Given the description of an element on the screen output the (x, y) to click on. 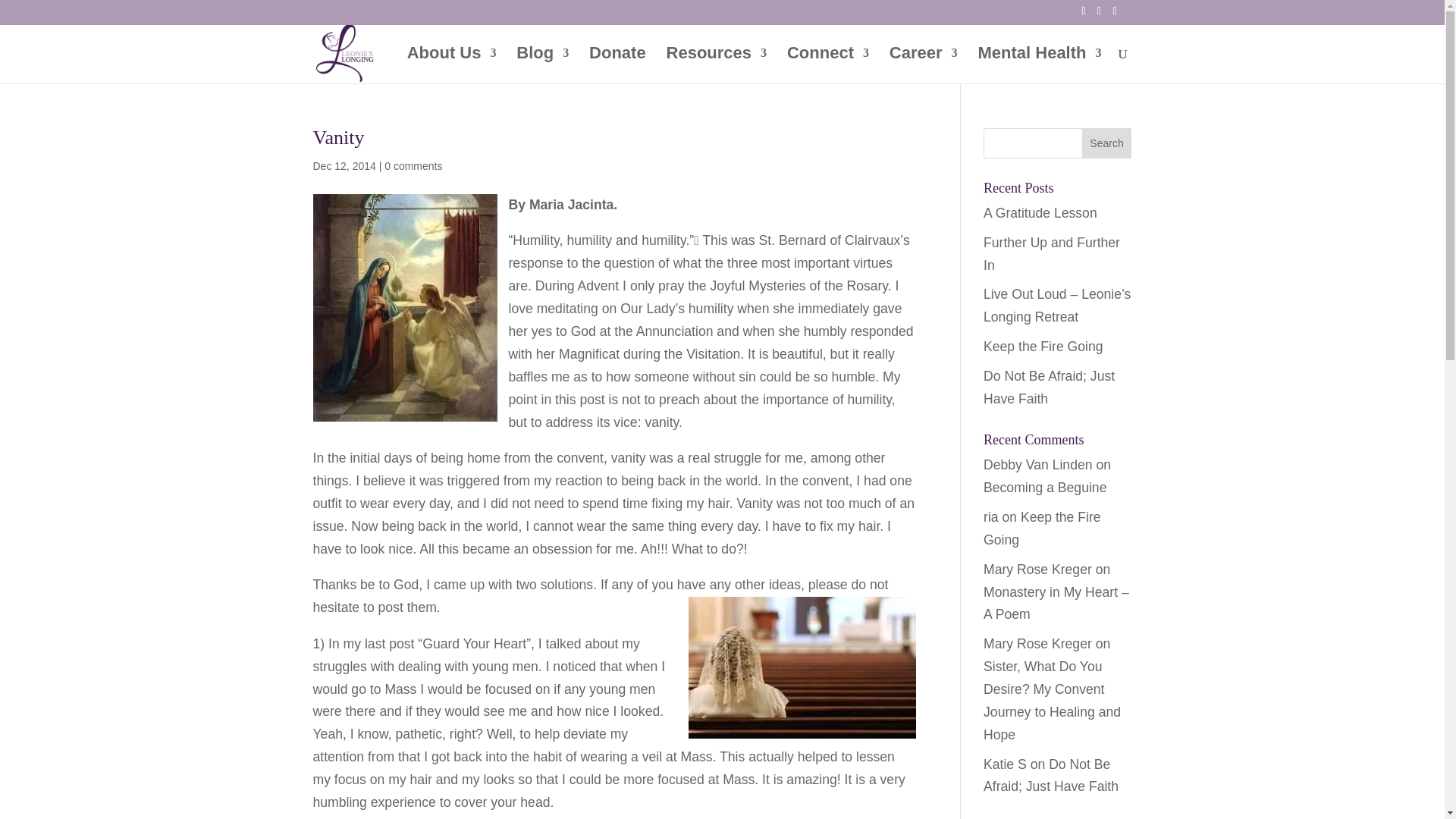
Vanity (338, 137)
Resources (716, 65)
About Us (451, 65)
Search (1106, 142)
Blog (542, 65)
Connect (828, 65)
Career (923, 65)
Mental Health (1038, 65)
Donate (617, 65)
